Given the description of an element on the screen output the (x, y) to click on. 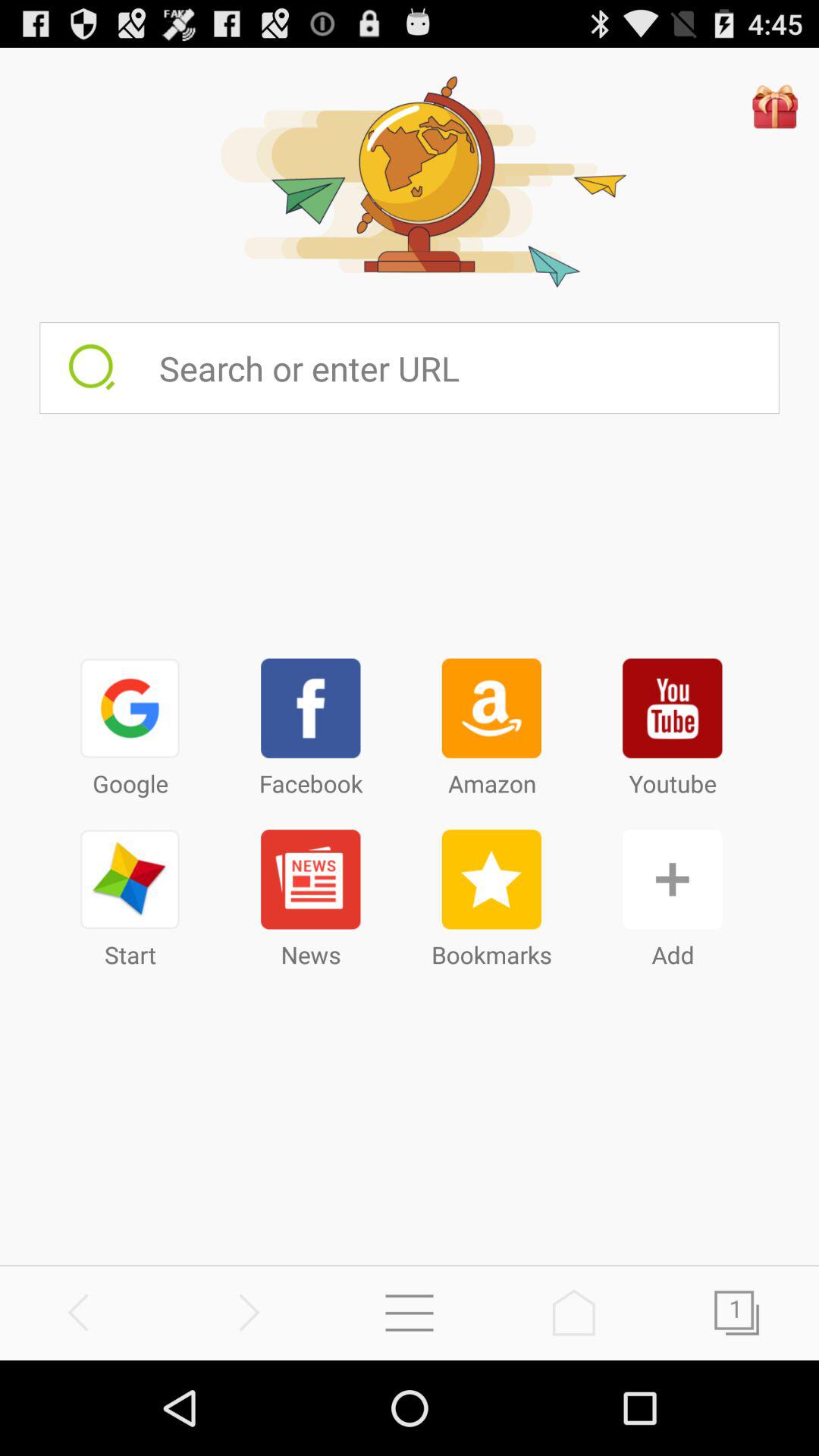
use search bar (468, 368)
